Given the description of an element on the screen output the (x, y) to click on. 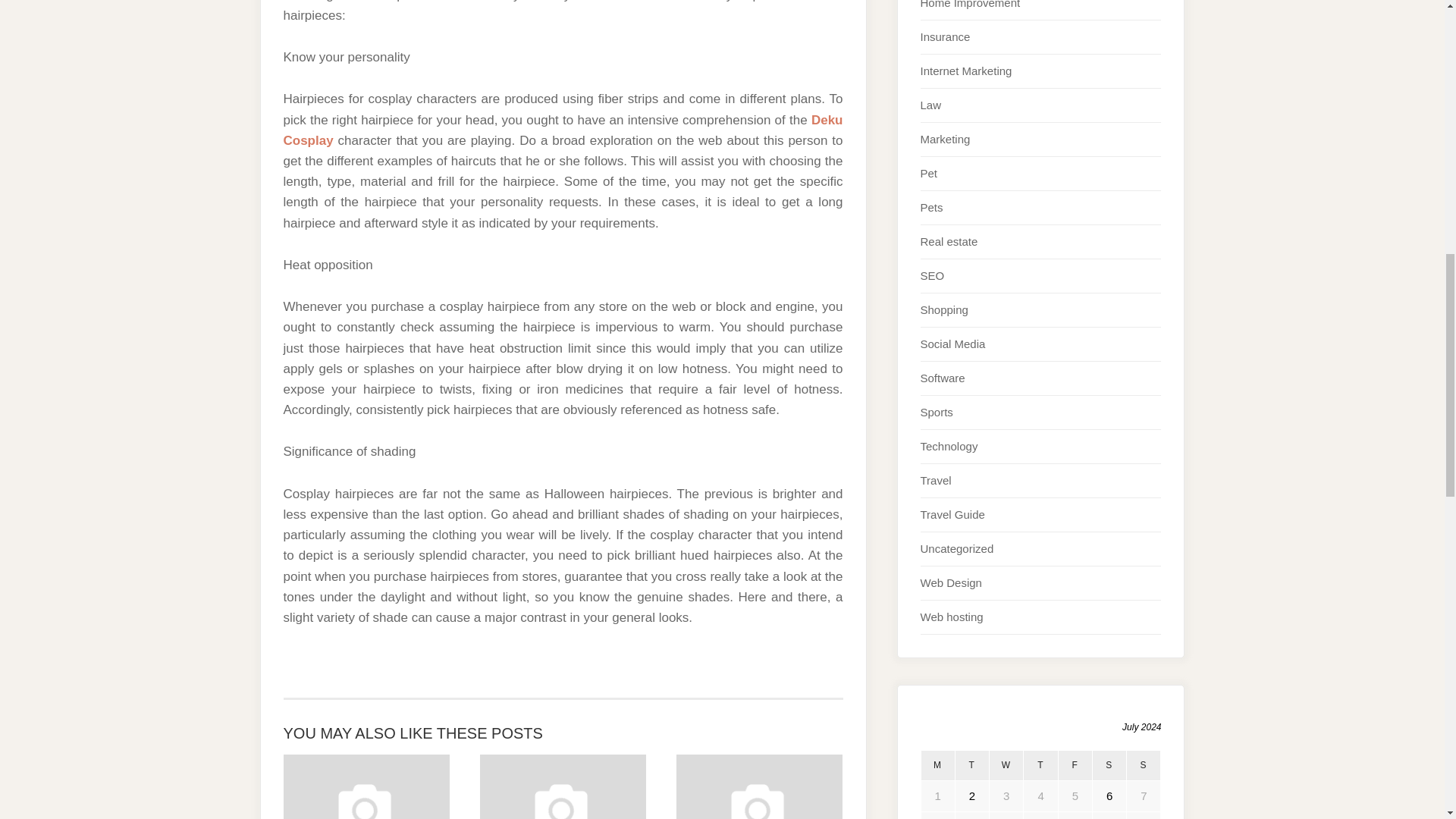
Thursday (1040, 766)
Tuesday (971, 766)
Law (931, 104)
Saturday (1108, 766)
Monday (937, 766)
Tips to Buy oneplus 9 pro Without Spending Big (563, 786)
Sunday (1143, 766)
Home Improvement (970, 4)
Facing the difficulties in visual merchandising (760, 786)
Deku Cosplay (563, 130)
Friday (1075, 766)
Internet Marketing (965, 70)
Tips to Buy oneplus 9 pro Without Spending Big (563, 786)
